Given the description of an element on the screen output the (x, y) to click on. 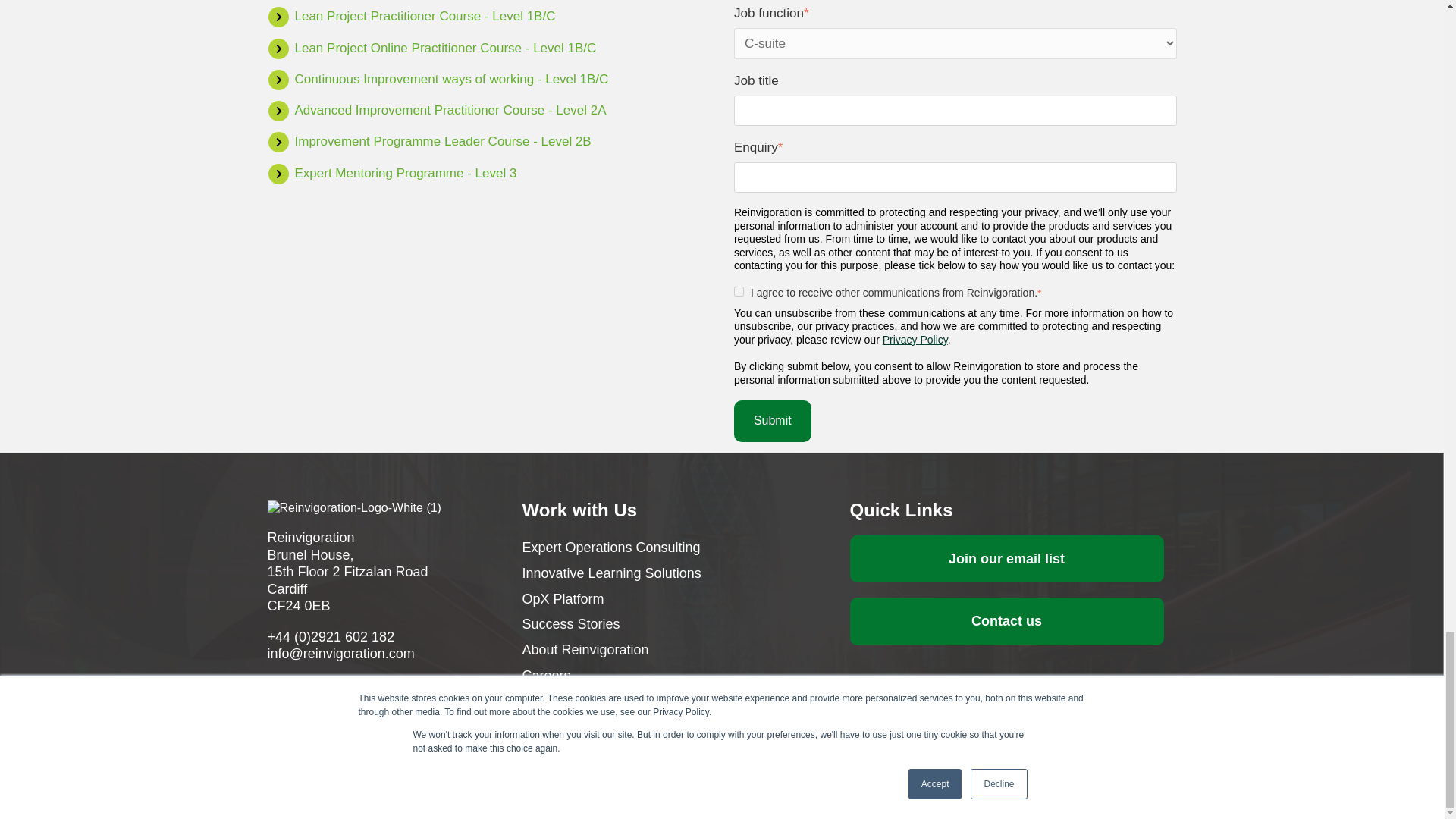
Follow us on LinkedIn (273, 683)
true (738, 291)
Submit (771, 420)
